Given the description of an element on the screen output the (x, y) to click on. 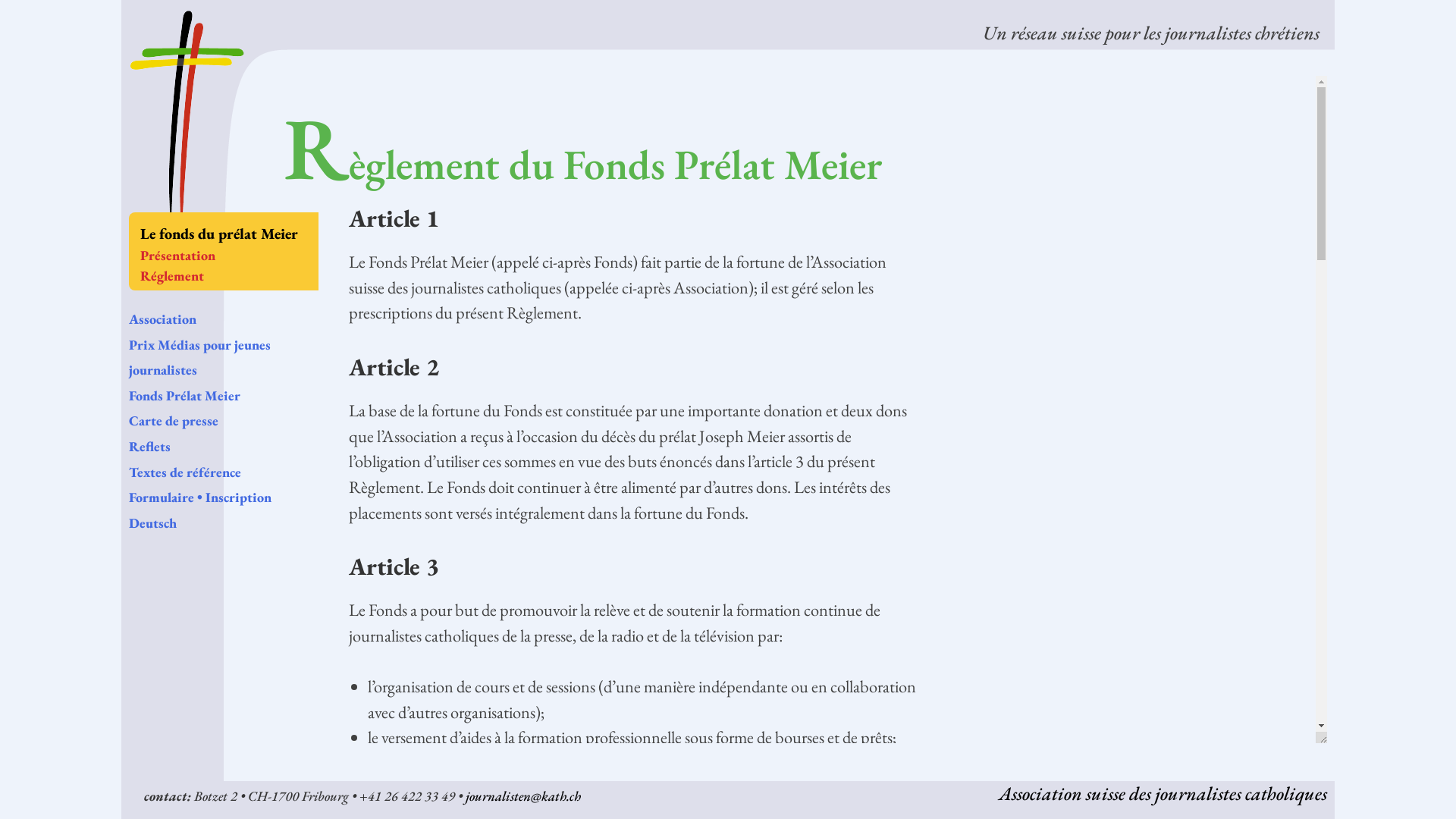
Association Element type: text (162, 318)
Reflets Element type: text (149, 446)
journalisten@kath.ch Element type: text (522, 795)
Carte de presse Element type: text (173, 420)
Deutsch Element type: text (152, 522)
Association suisse des journalistes catholiques Element type: text (1162, 793)
